Given the description of an element on the screen output the (x, y) to click on. 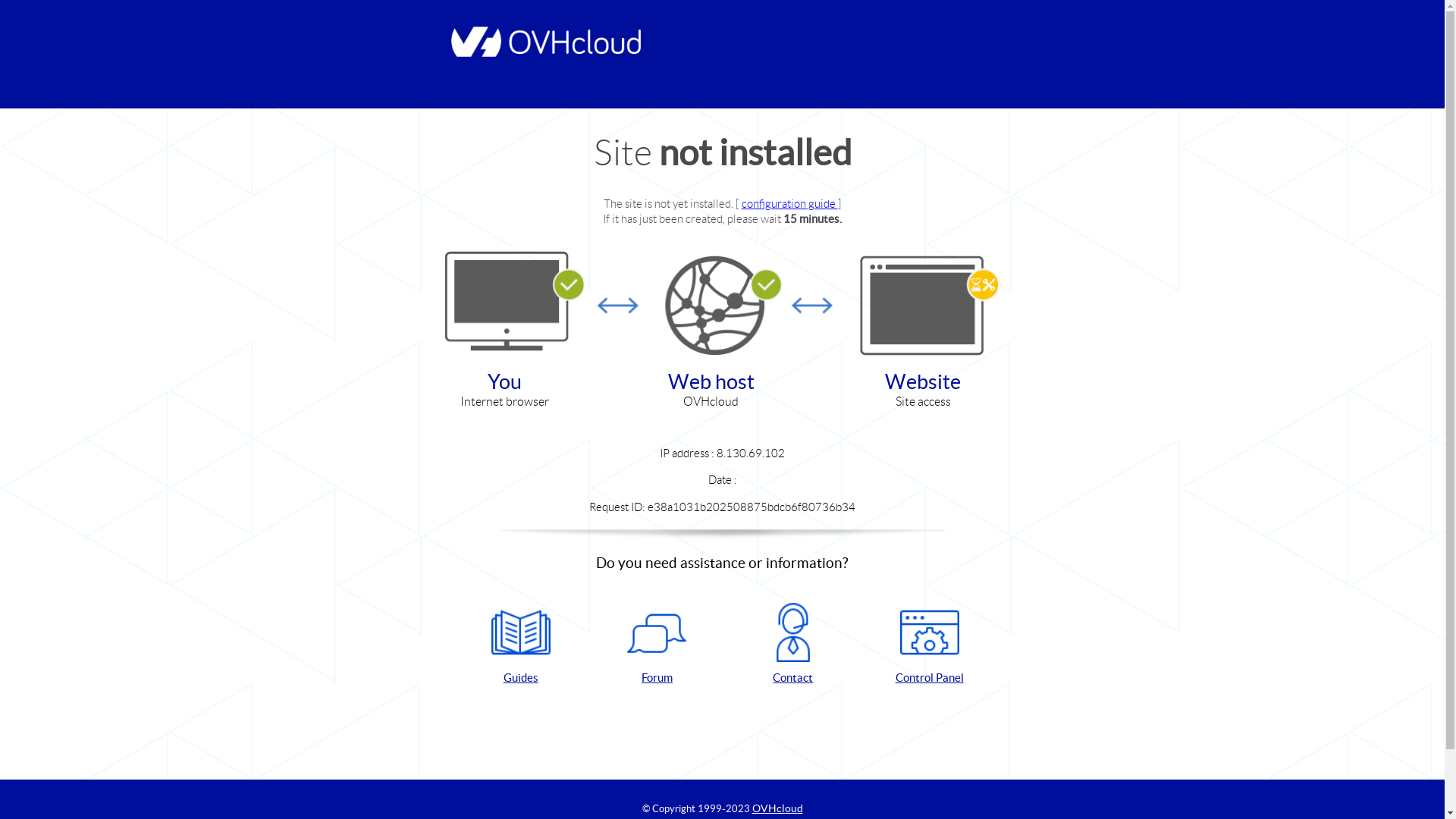
configuration guide Element type: text (789, 203)
Contact Element type: text (792, 644)
Control Panel Element type: text (929, 644)
Forum Element type: text (656, 644)
OVHcloud Element type: text (777, 808)
Guides Element type: text (520, 644)
